Given the description of an element on the screen output the (x, y) to click on. 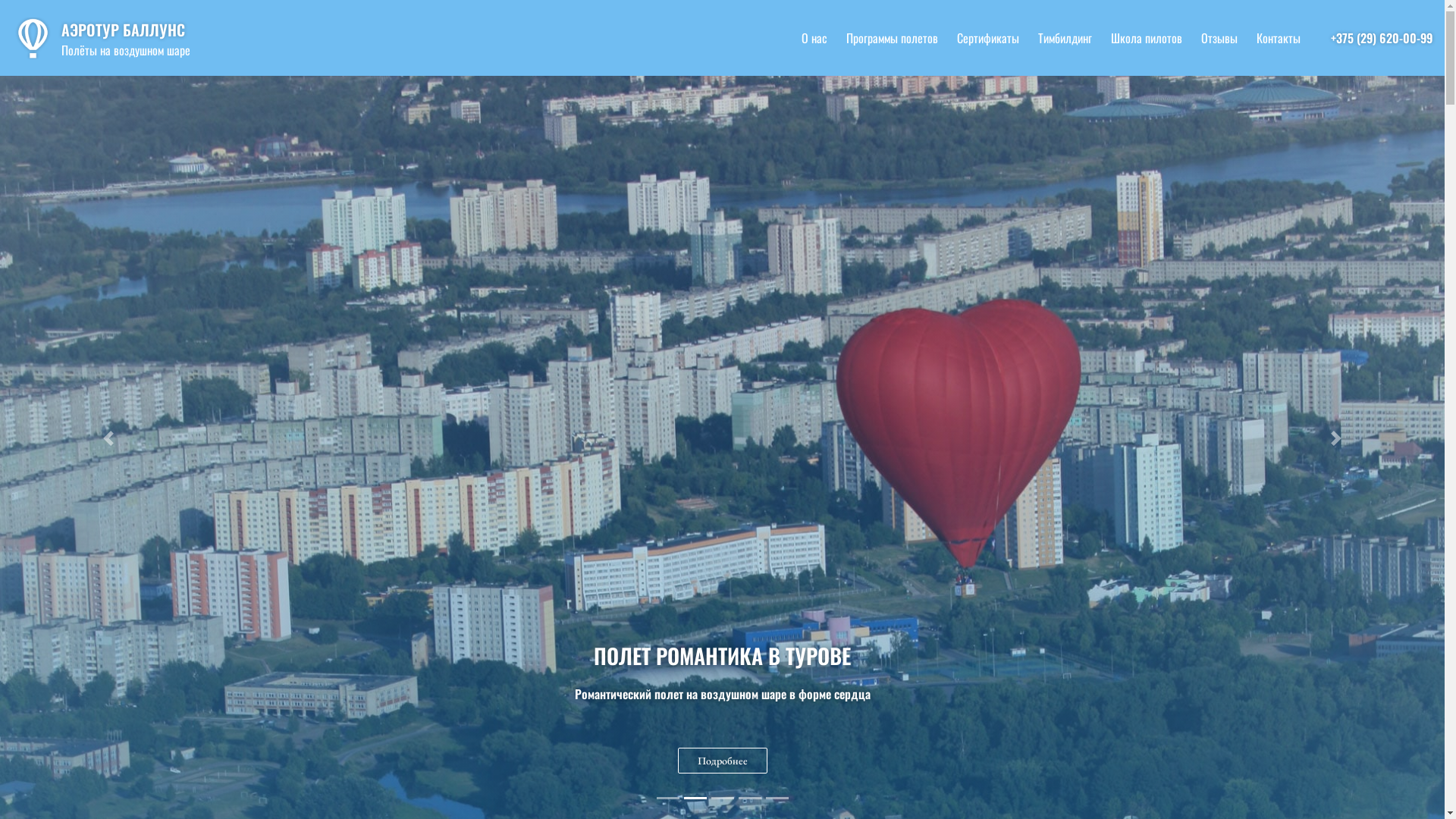
+375 (29) 620-00-99 Element type: text (1381, 37)
